Given the description of an element on the screen output the (x, y) to click on. 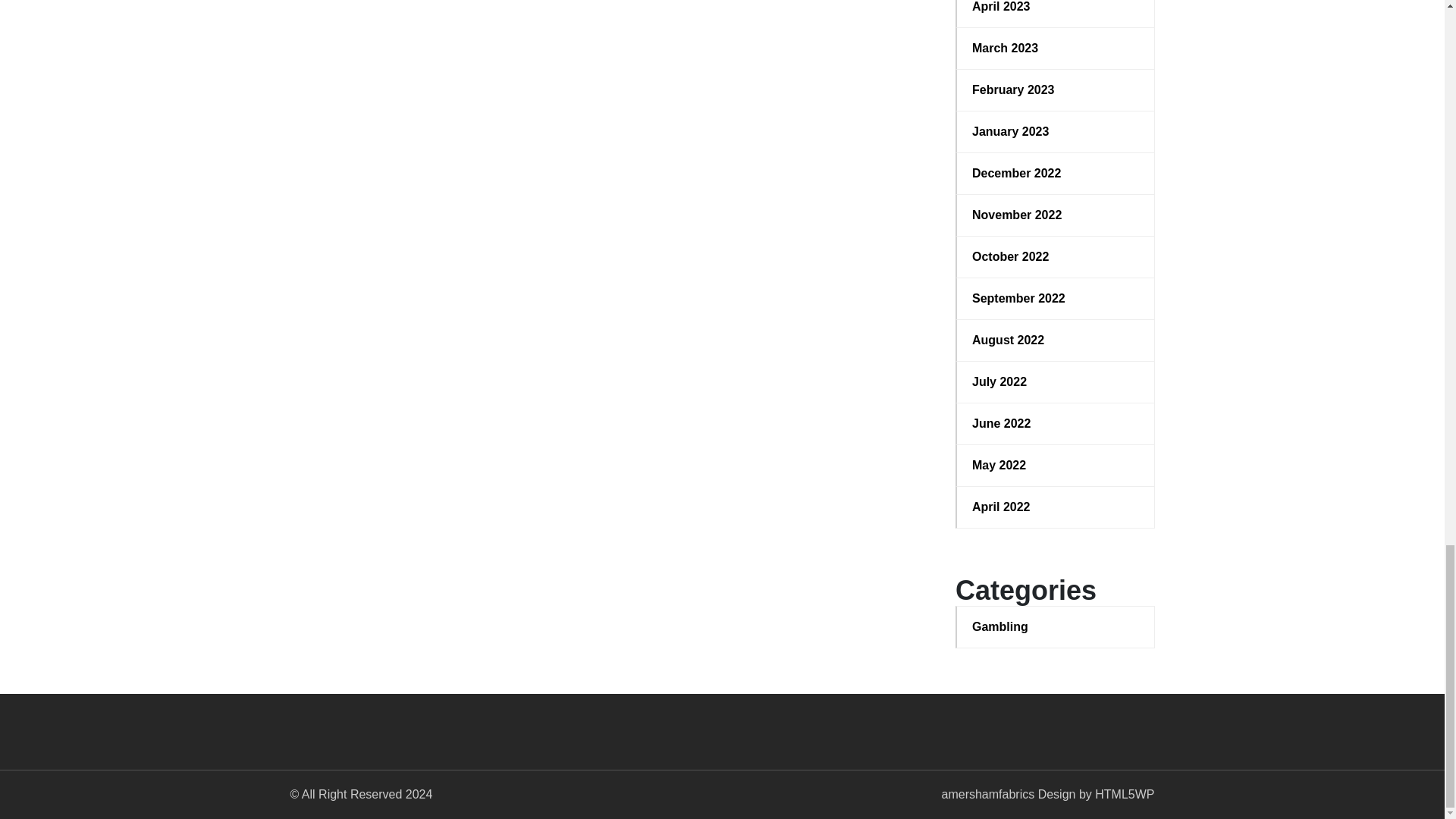
October 2022 (1055, 257)
April 2023 (1055, 7)
November 2022 (1055, 215)
September 2022 (1055, 298)
December 2022 (1055, 173)
March 2023 (1055, 48)
January 2023 (1055, 131)
February 2023 (1055, 90)
